Given the description of an element on the screen output the (x, y) to click on. 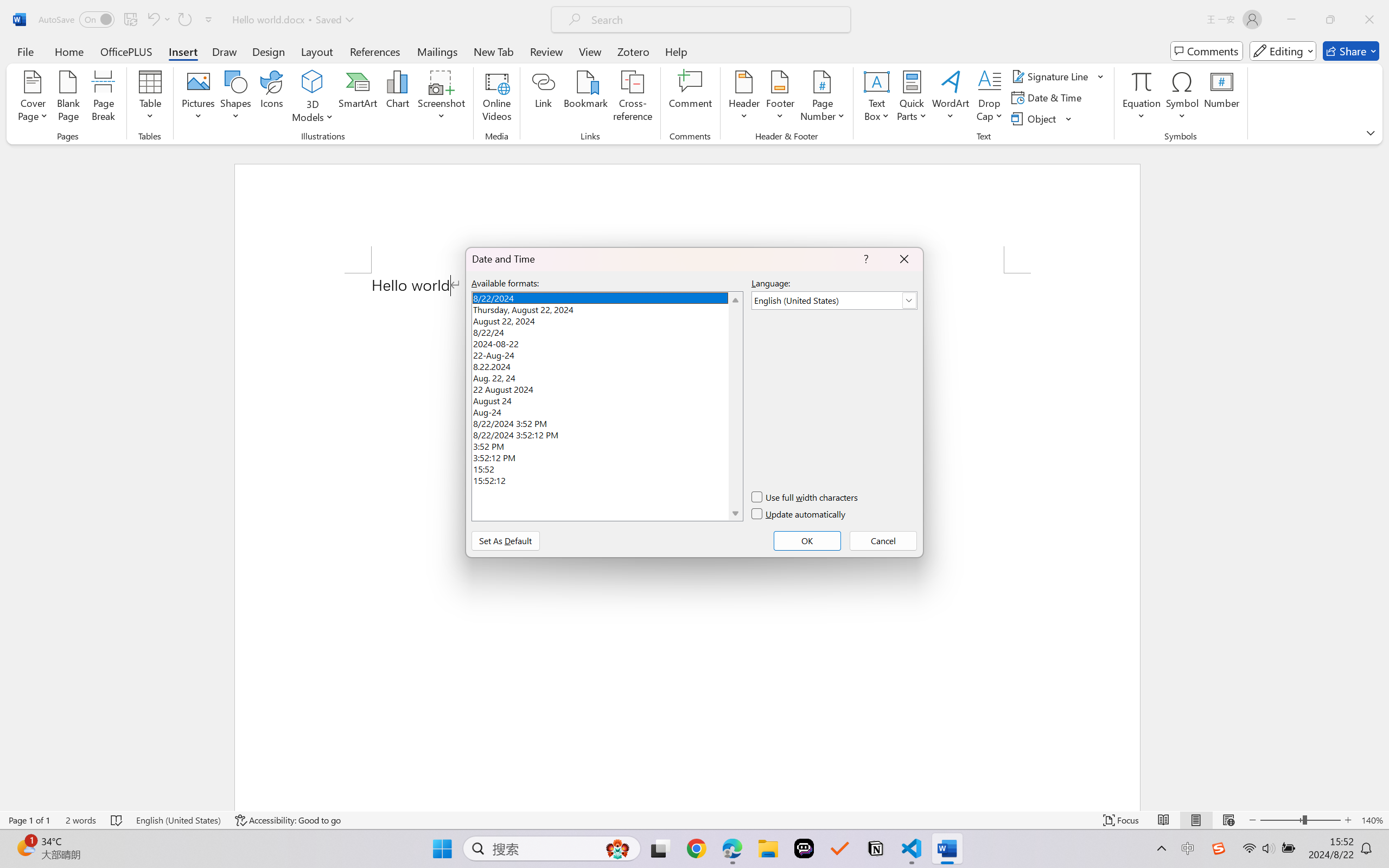
Help (675, 51)
File Tab (24, 51)
Customize Quick Access Toolbar (208, 19)
OK (807, 540)
Mode (1283, 50)
Blank Page (67, 97)
Cover Page (33, 97)
Insert (182, 51)
Cancel (883, 540)
Signature Line (1051, 75)
